Given the description of an element on the screen output the (x, y) to click on. 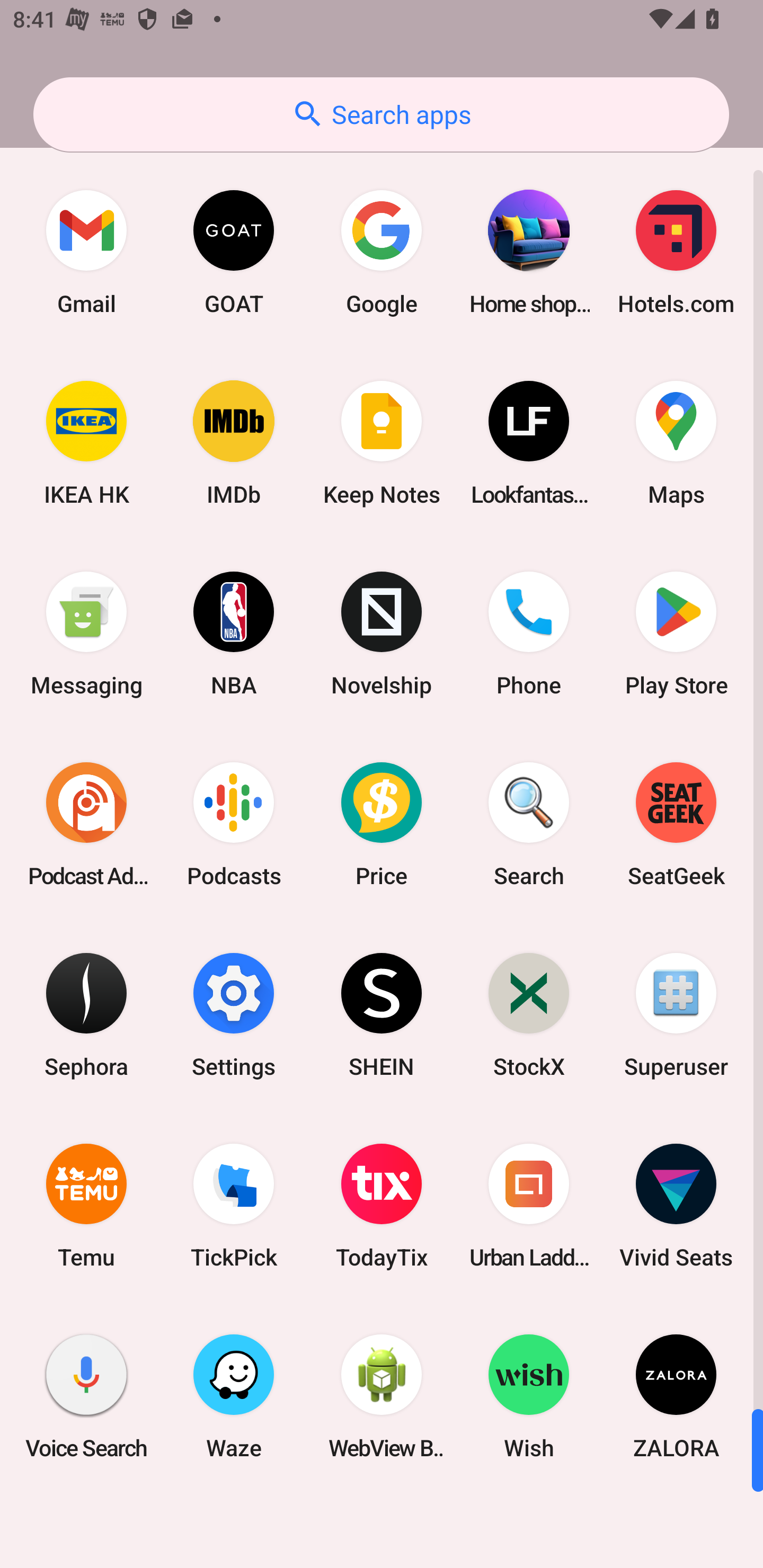
  Search apps (381, 114)
Gmail (86, 252)
GOAT (233, 252)
Google (381, 252)
Home shopping (528, 252)
Hotels.com (676, 252)
IKEA HK (86, 442)
IMDb (233, 442)
Keep Notes (381, 442)
Lookfantastic (528, 442)
Maps (676, 442)
Messaging (86, 633)
NBA (233, 633)
Novelship (381, 633)
Phone (528, 633)
Play Store (676, 633)
Podcast Addict (86, 823)
Podcasts (233, 823)
Price (381, 823)
Search (528, 823)
SeatGeek (676, 823)
Sephora (86, 1014)
Settings (233, 1014)
SHEIN (381, 1014)
StockX (528, 1014)
Superuser (676, 1014)
Temu (86, 1205)
TickPick (233, 1205)
TodayTix (381, 1205)
Urban Ladder (528, 1205)
Vivid Seats (676, 1205)
Voice Search (86, 1396)
Waze (233, 1396)
WebView Browser Tester (381, 1396)
Wish (528, 1396)
ZALORA (676, 1396)
